Given the description of an element on the screen output the (x, y) to click on. 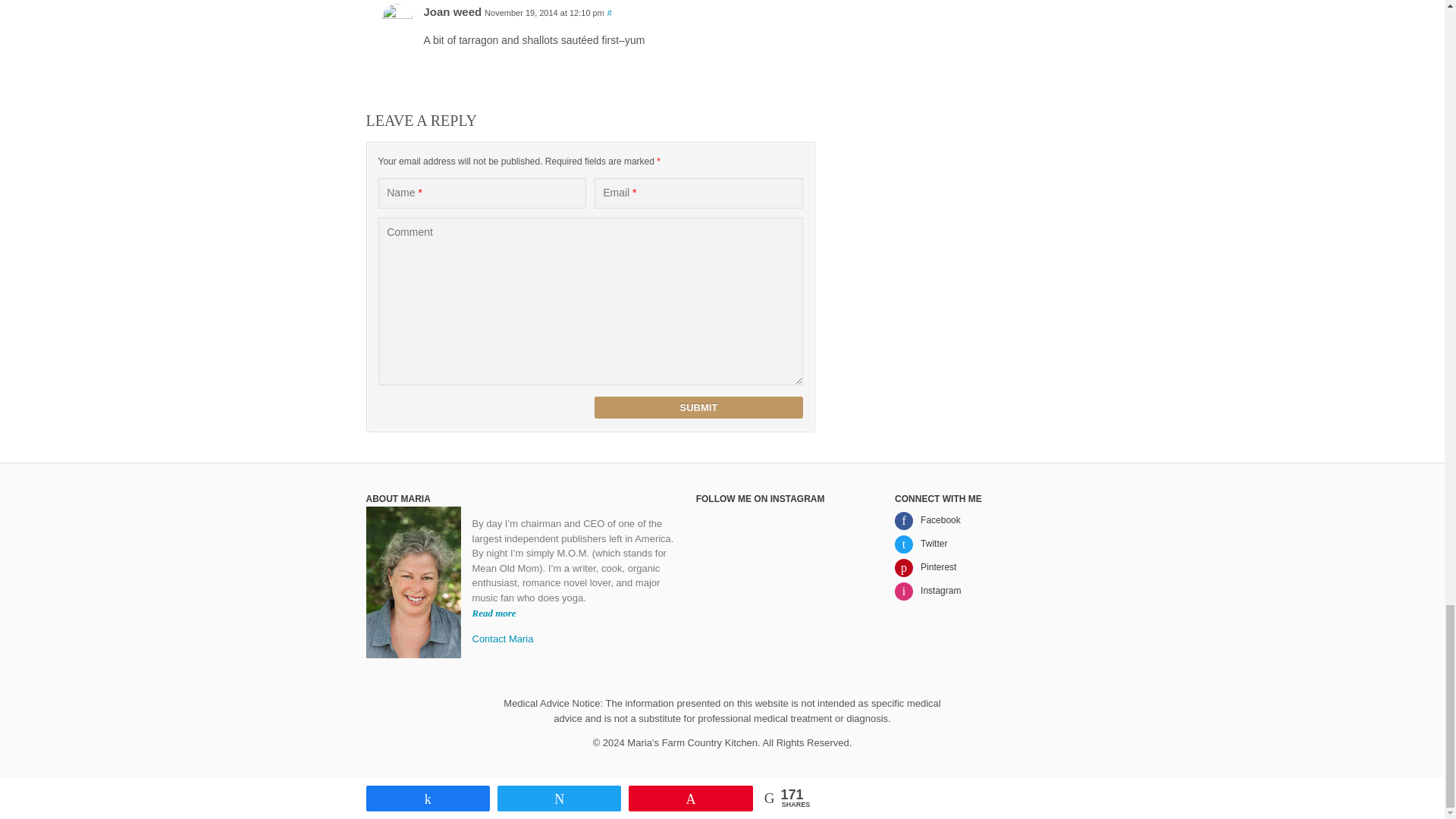
Submit (698, 407)
